Given the description of an element on the screen output the (x, y) to click on. 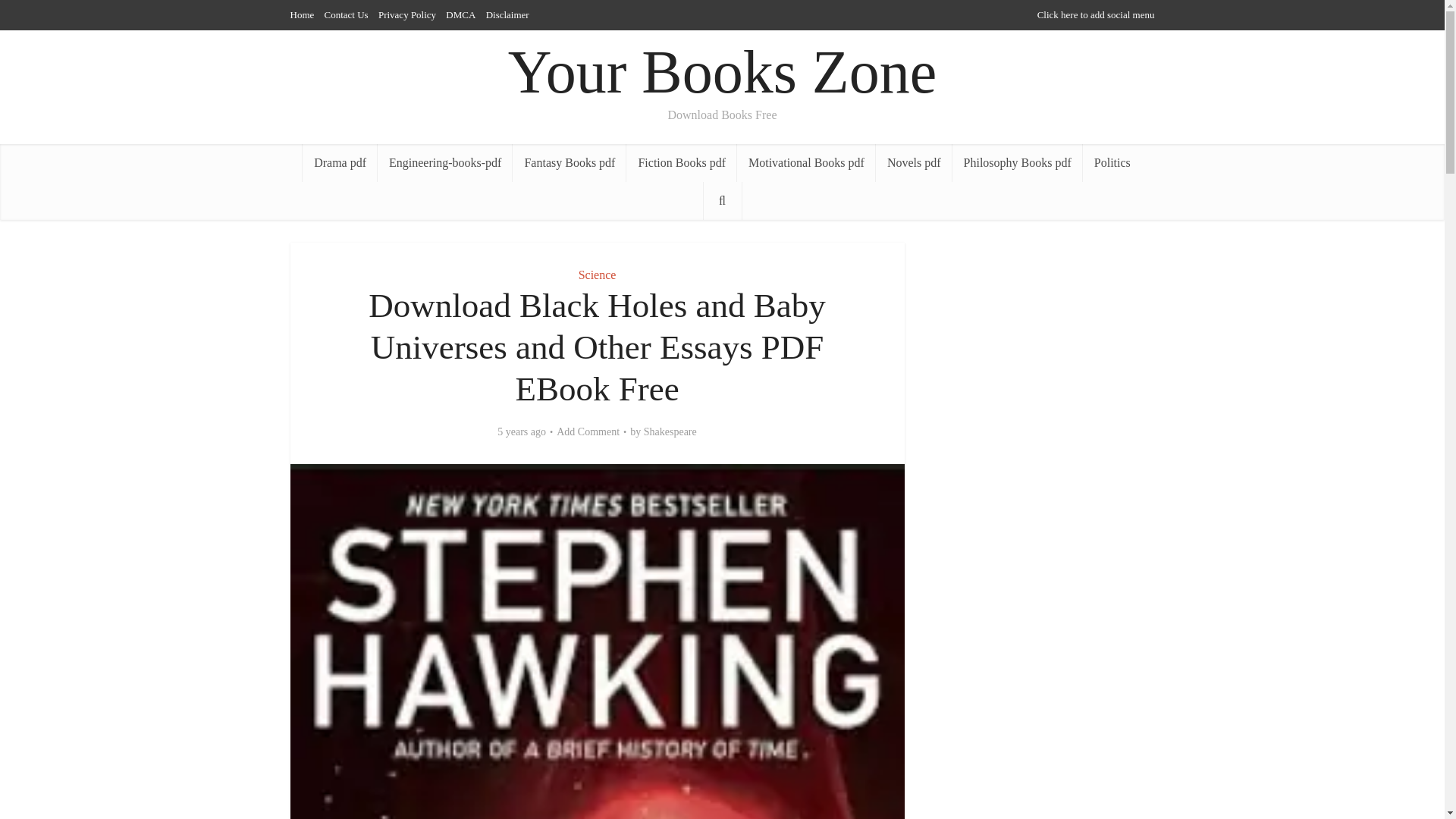
DMCA (460, 14)
Your Books Zone (722, 71)
Drama pdf (339, 162)
Fantasy Books pdf (569, 162)
Contact Us (346, 14)
Engineering-books-pdf (444, 162)
Shakespeare (670, 431)
Disclaimer (507, 14)
Privacy Policy (406, 14)
Motivational Books pdf (806, 162)
